Given the description of an element on the screen output the (x, y) to click on. 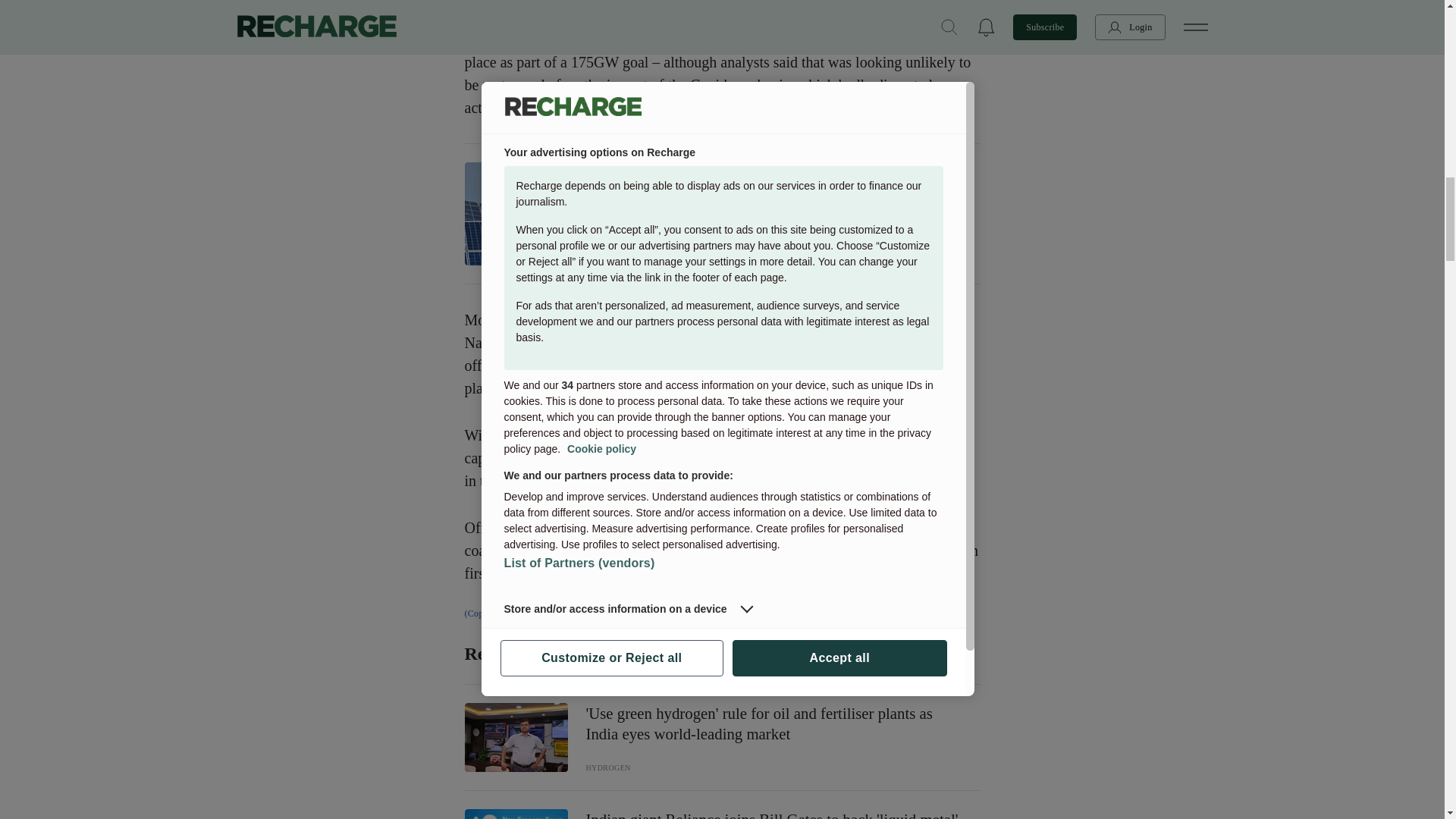
Copyright (721, 613)
